Given the description of an element on the screen output the (x, y) to click on. 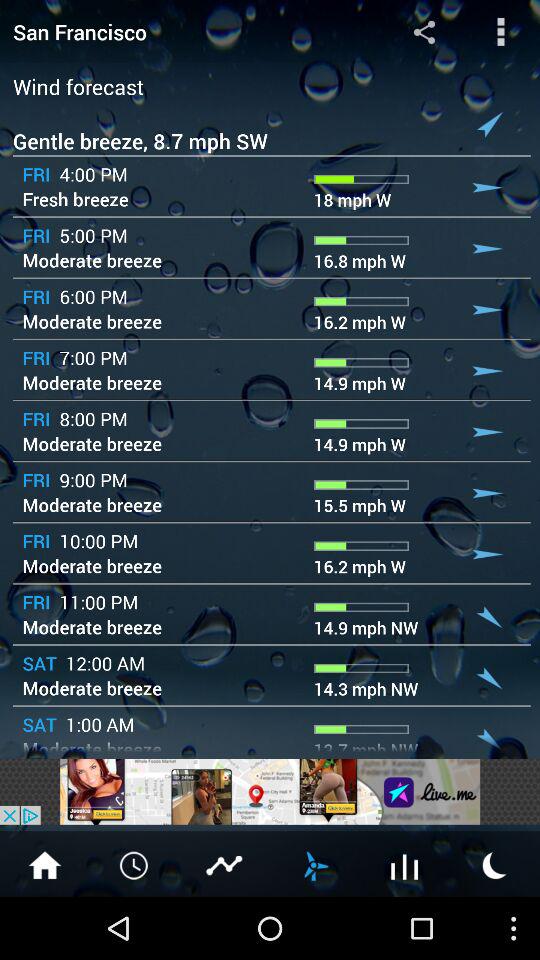
sunrise/sunset times (495, 864)
